Given the description of an element on the screen output the (x, y) to click on. 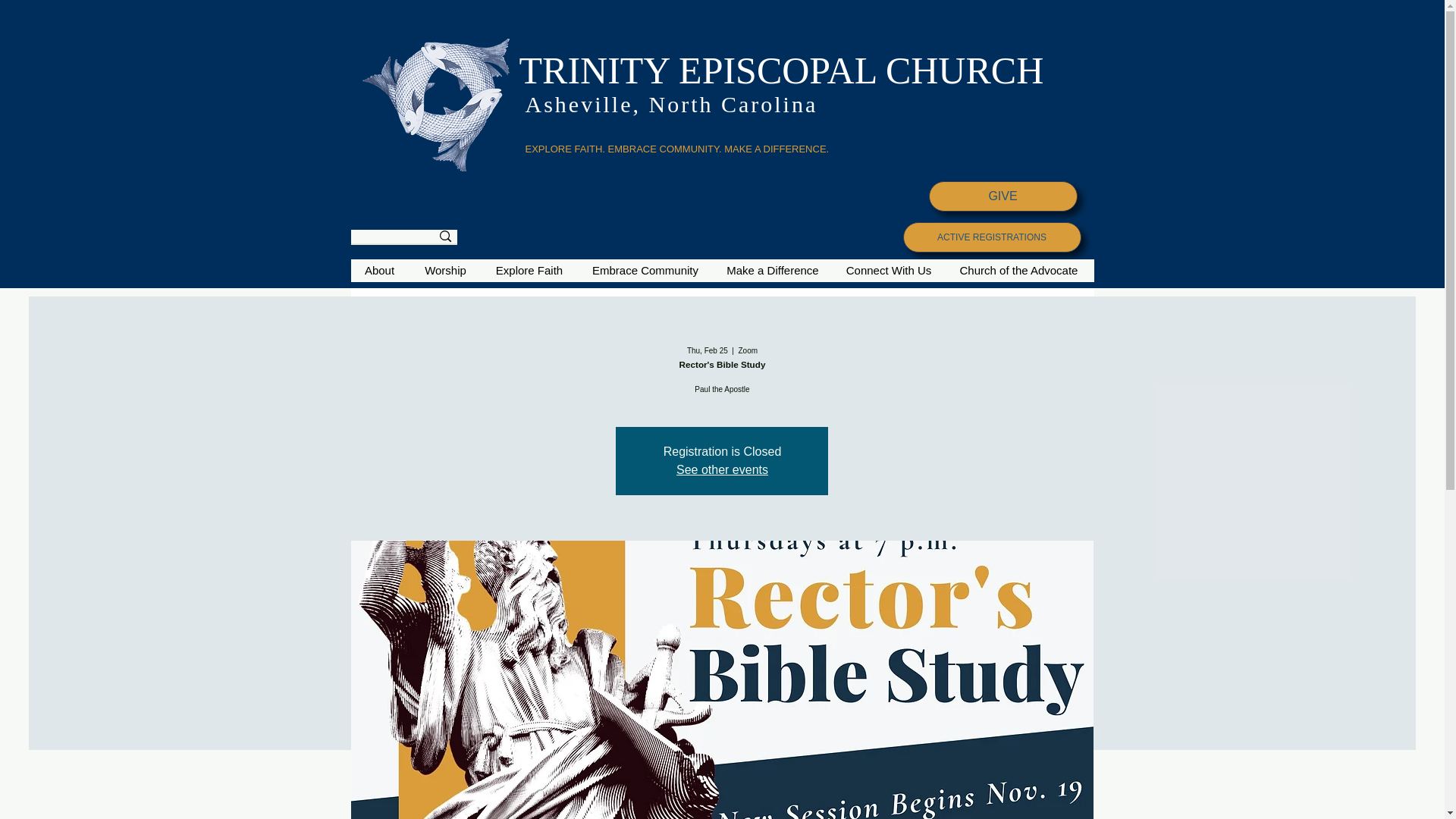
Asheville, North Carolina (670, 104)
TRINITY EPISCOPAL CHURCH (780, 70)
EXPLORE FAITH. EMBRACE COMMUNITY. MAKE A DIFFERENCE. (676, 148)
GIVE (1002, 195)
ACTIVE REGISTRATIONS (991, 236)
